Given the description of an element on the screen output the (x, y) to click on. 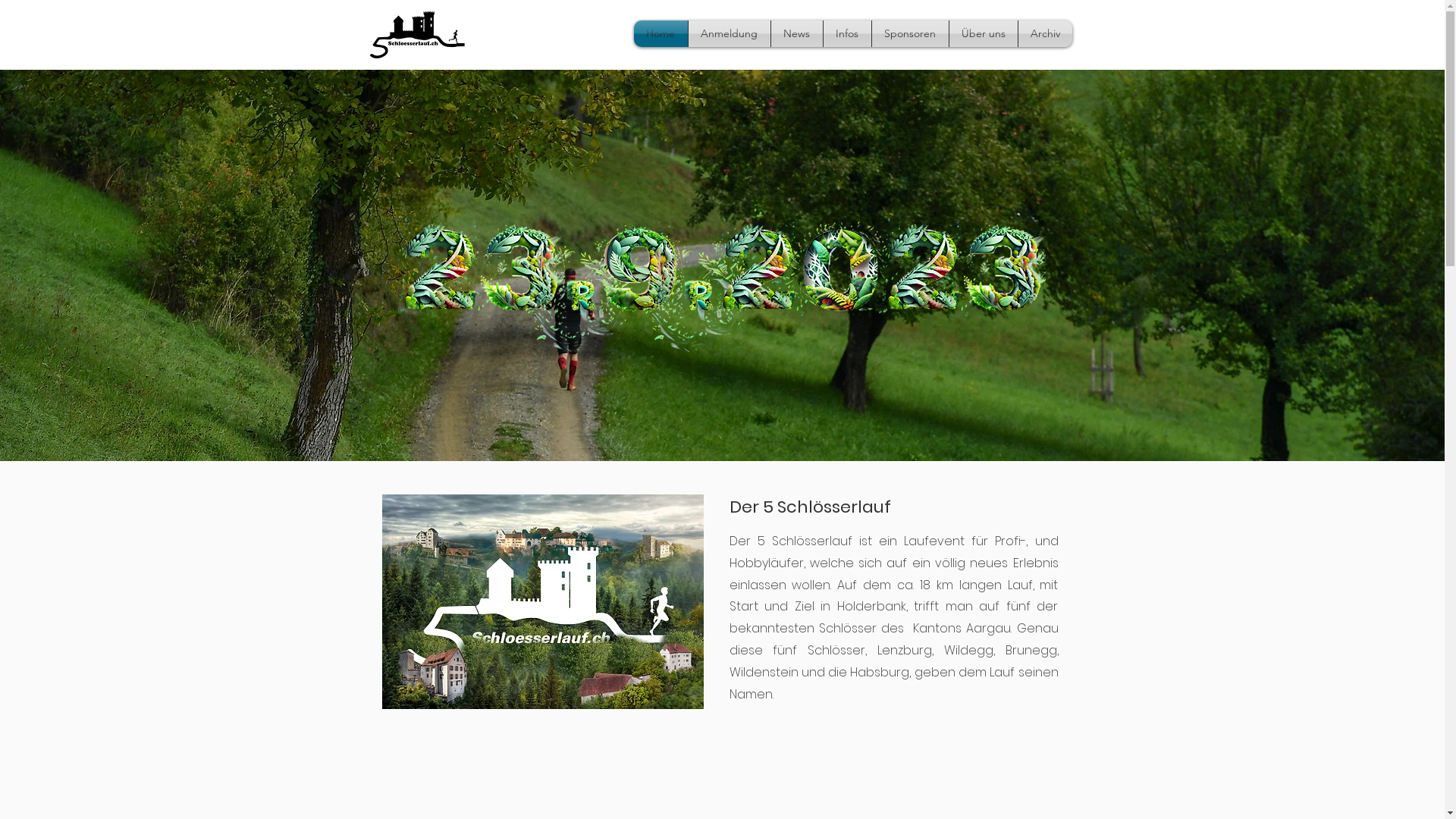
Anmeldung Element type: text (729, 33)
Archiv Element type: text (1044, 33)
LOGO 5SL.jpeg Element type: hover (417, 34)
Sponsoren Element type: text (910, 33)
Infos Element type: text (847, 33)
Home Element type: text (660, 33)
News Element type: text (796, 33)
